Given the description of an element on the screen output the (x, y) to click on. 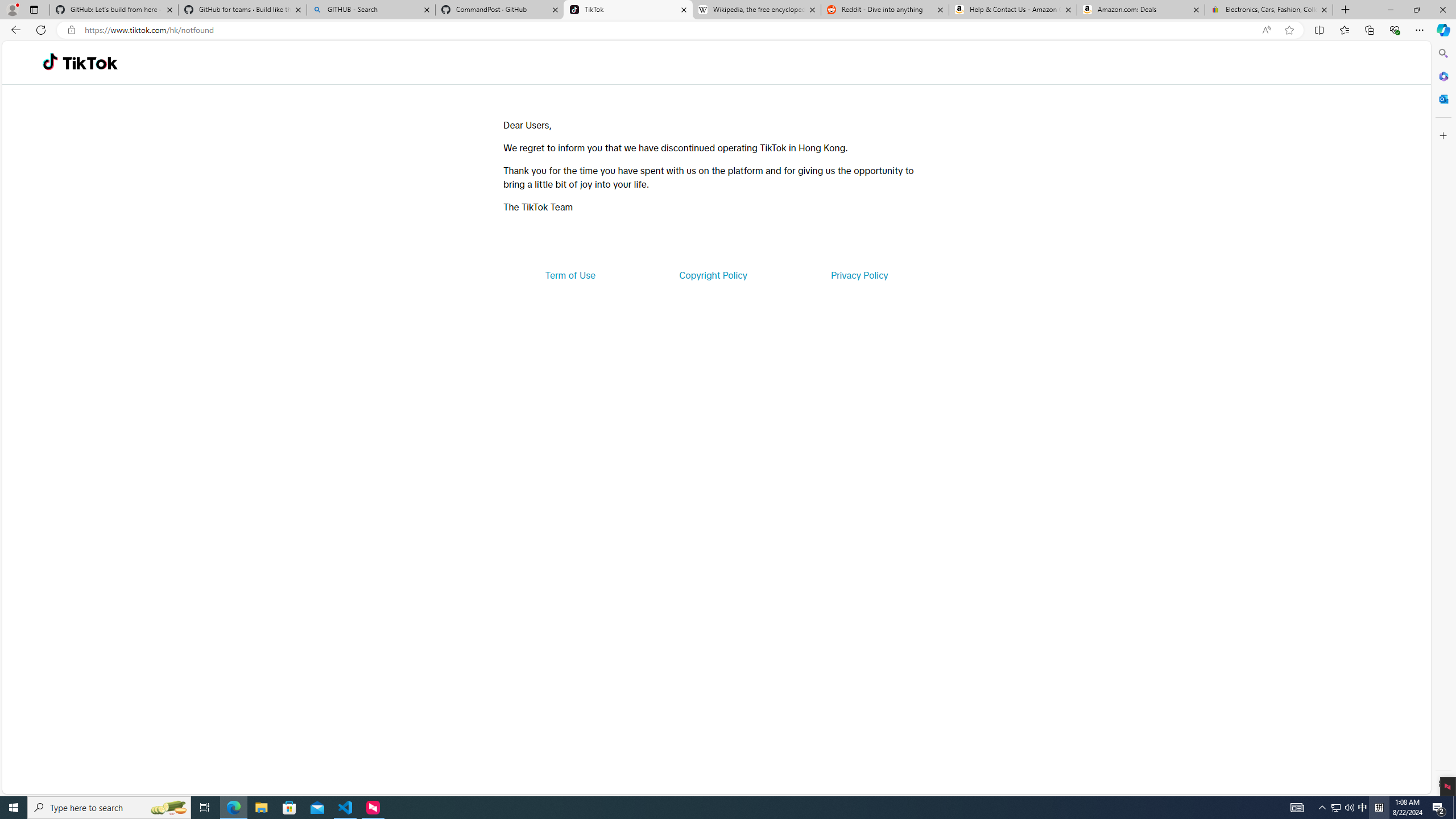
GITHUB - Search (370, 9)
